Given the description of an element on the screen output the (x, y) to click on. 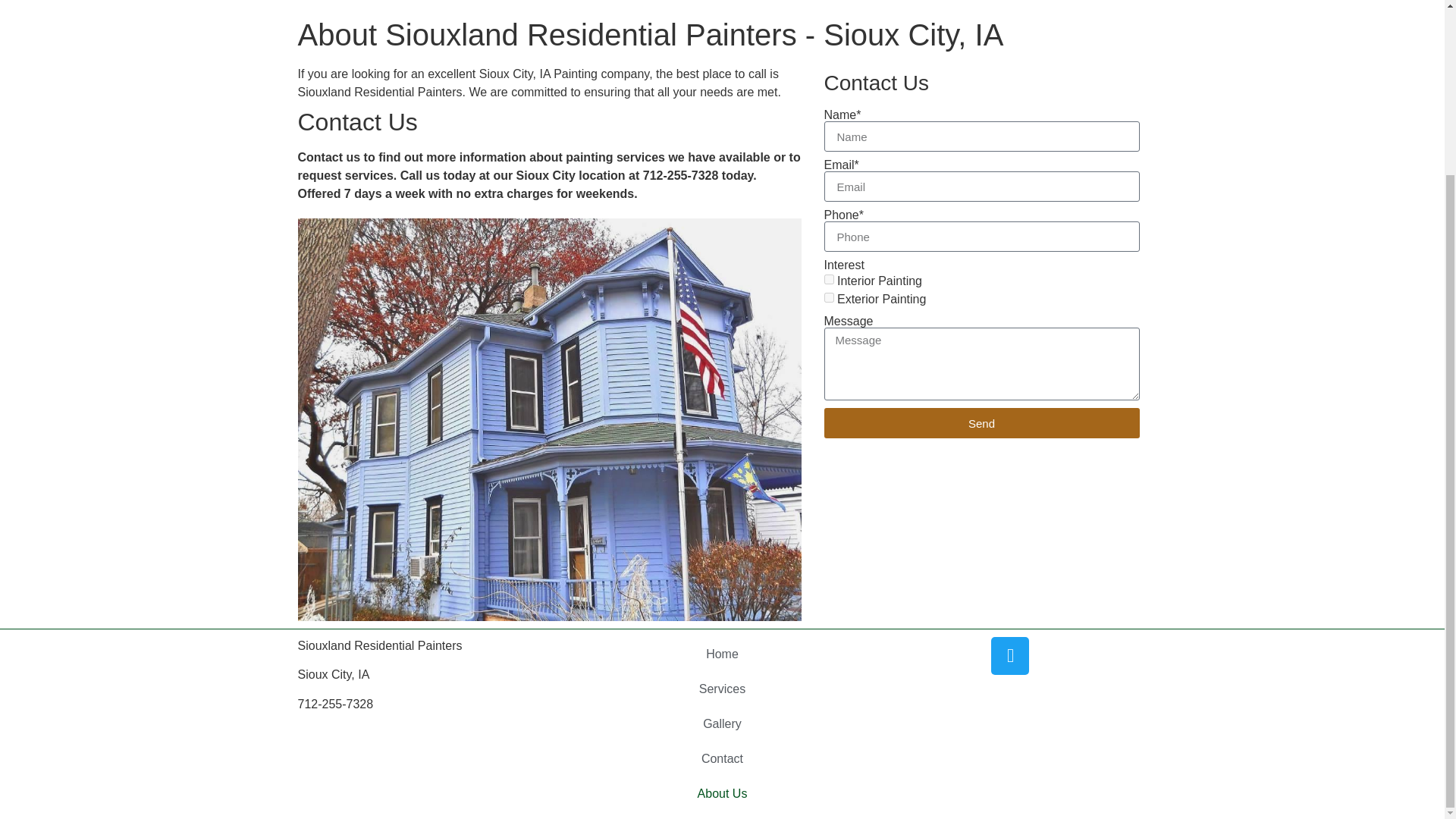
Gallery (722, 724)
About Us (722, 793)
Interior Painting (828, 279)
Services (722, 688)
Home (722, 654)
Contact (722, 759)
712-255-7328 (334, 703)
Exterior Painting (828, 297)
Send (981, 422)
